Given the description of an element on the screen output the (x, y) to click on. 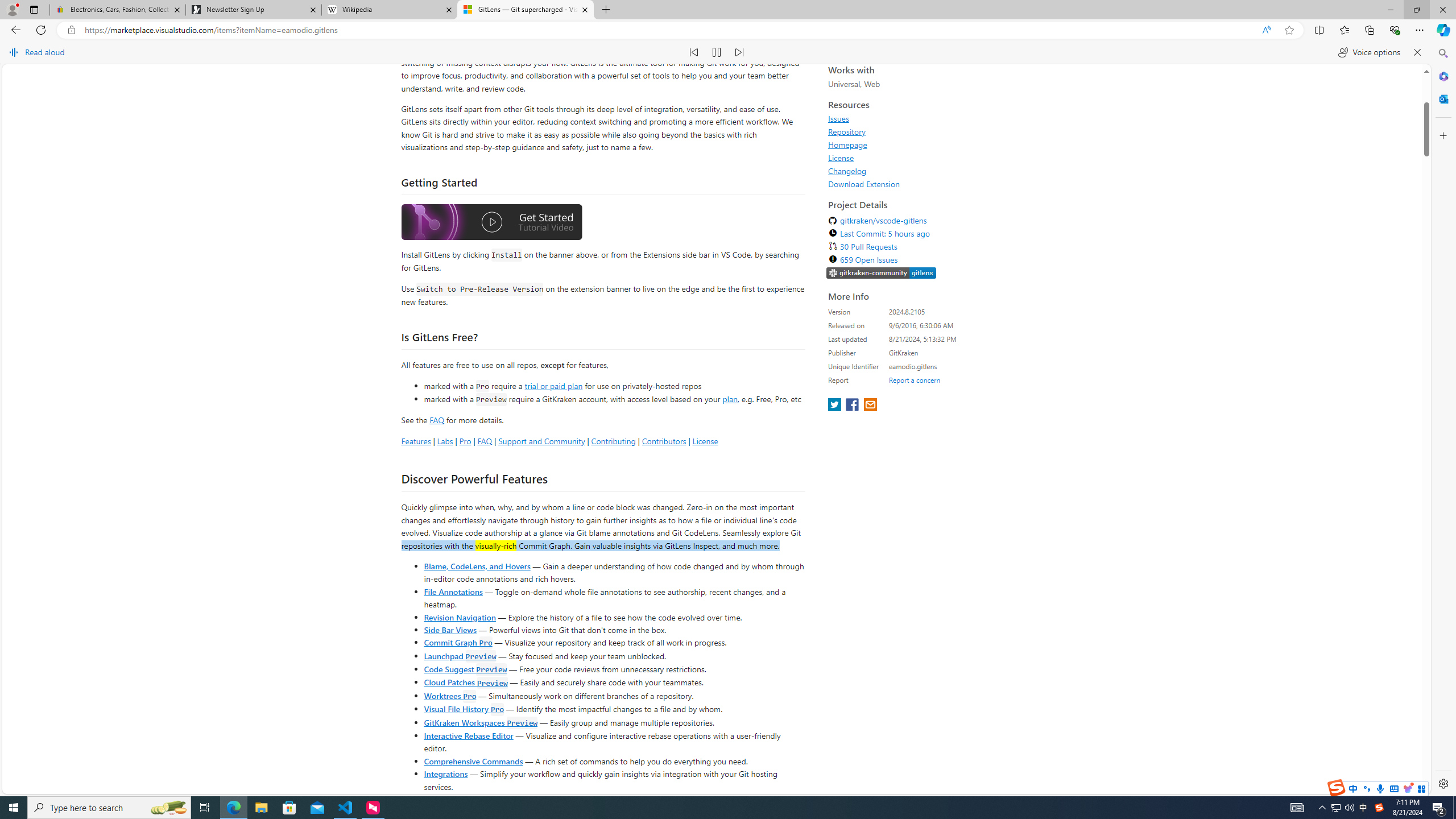
FAQ (484, 627)
Overview (421, 115)
Issues (931, 304)
Changelog (931, 357)
Homepage (931, 330)
https://slack.gitkraken.com// (881, 459)
GitLens (414, 215)
Features (415, 627)
share extension on twitter (835, 592)
